Given the description of an element on the screen output the (x, y) to click on. 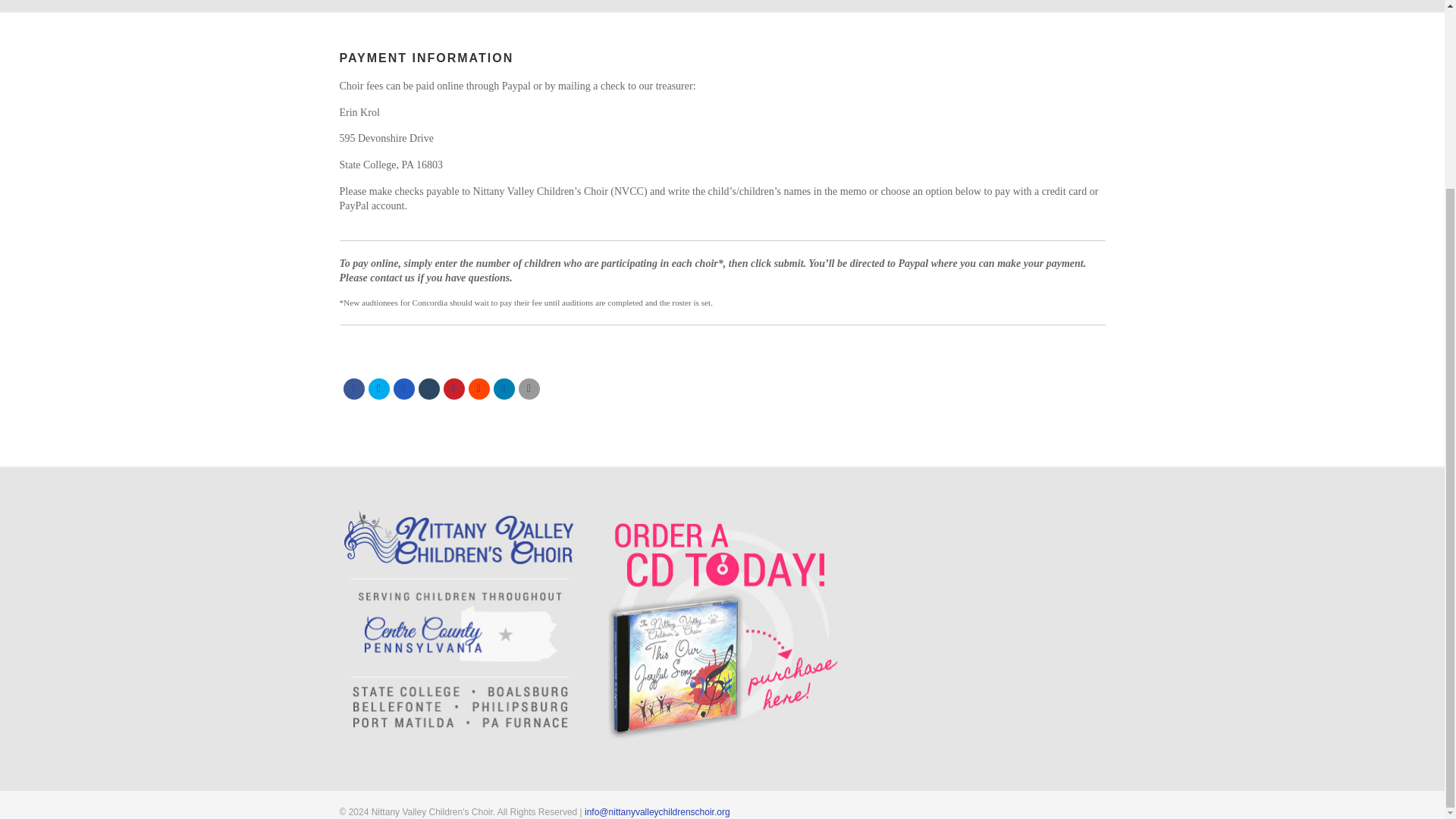
Tweet (379, 388)
Pin it (453, 388)
Post to Tumblr (429, 388)
Email (529, 388)
Share on Linkedin (503, 388)
Submit to Reddit (478, 388)
Share on Facebook (353, 388)
